Given the description of an element on the screen output the (x, y) to click on. 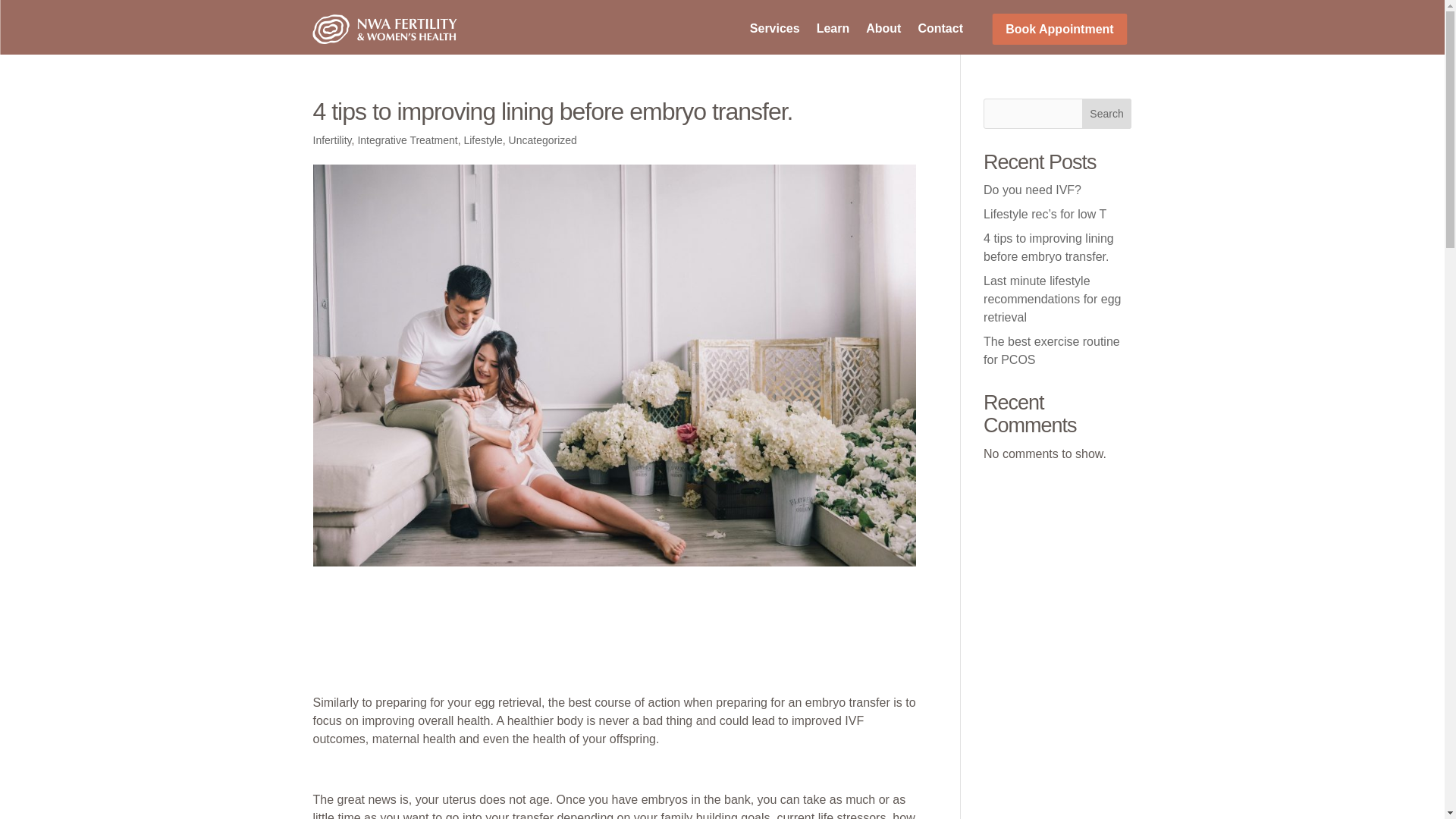
4 tips to improving lining before embryo transfer. (1048, 246)
Contact (939, 31)
Services (774, 31)
Infertility (331, 140)
About (883, 31)
Uncategorized (542, 140)
Learn (833, 31)
Integrative Treatment (406, 140)
Book Appointment (1058, 29)
Last minute lifestyle recommendations for egg retrieval (1052, 298)
Do you need IVF? (1032, 189)
The best exercise routine for PCOS (1051, 350)
Lifestyle (482, 140)
Search (1106, 113)
